Given the description of an element on the screen output the (x, y) to click on. 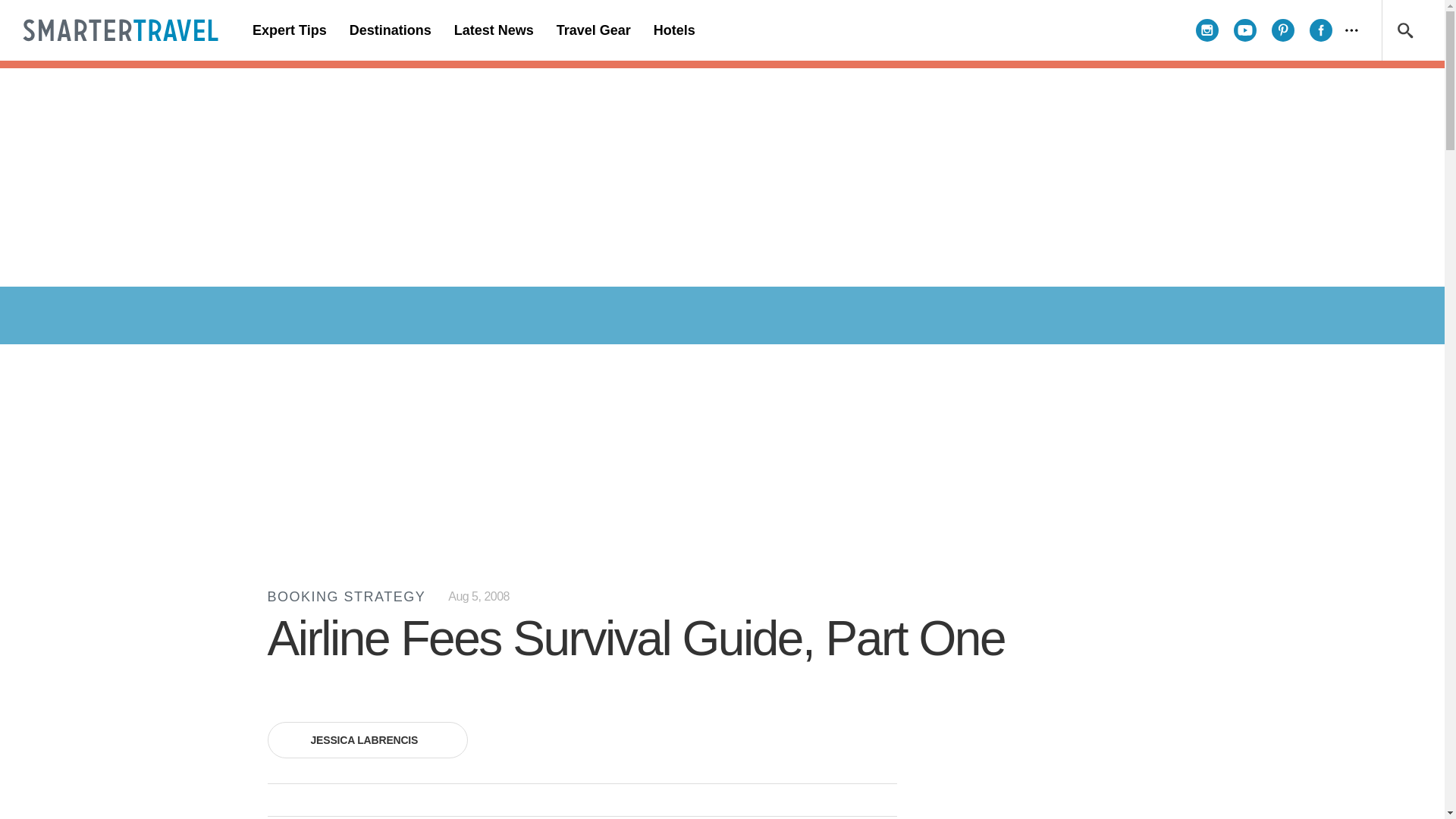
Destinations (389, 30)
Travel Gear (593, 30)
Hotels (674, 30)
Expert Tips (289, 30)
Latest News (493, 30)
